Given the description of an element on the screen output the (x, y) to click on. 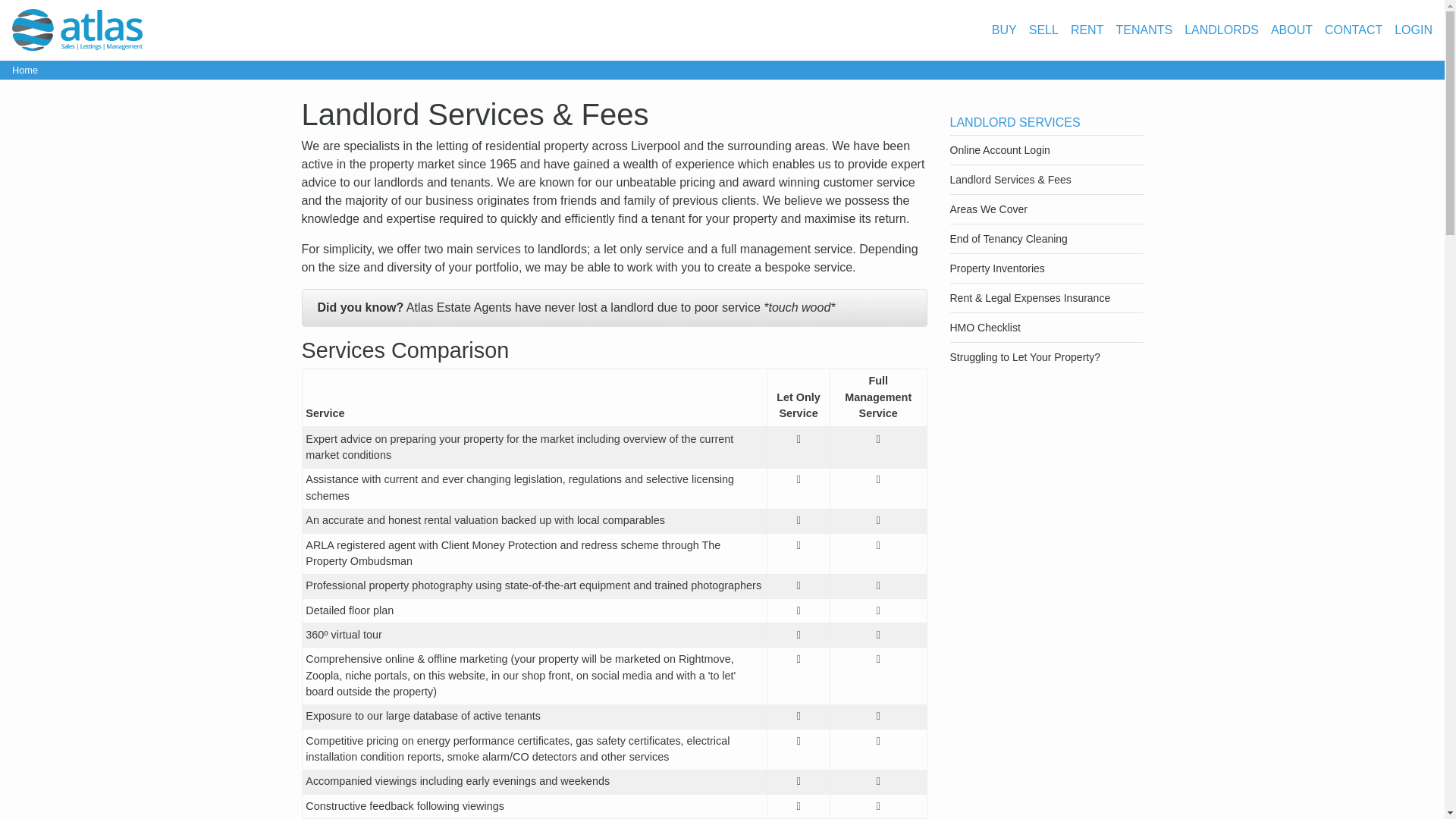
TENANTS (1143, 29)
Struggling to Let Your Property? (1024, 357)
HMO Checklist (984, 327)
CONTACT (1352, 29)
Online Account Login (999, 150)
Property Inventories (996, 268)
LANDLORDS (1222, 29)
End of Tenancy Cleaning (1008, 238)
Areas We Cover (987, 209)
Home (24, 70)
